Given the description of an element on the screen output the (x, y) to click on. 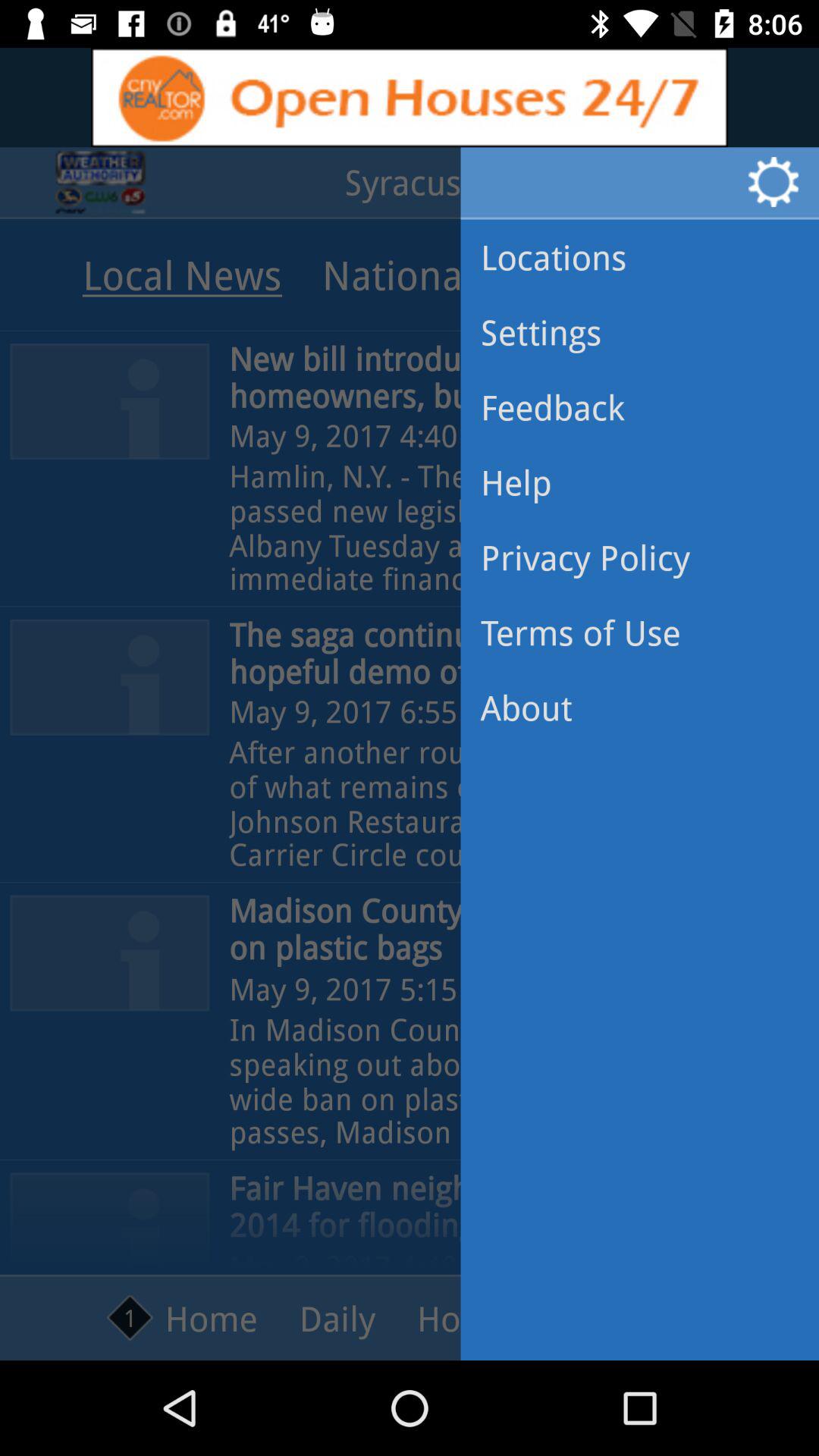
click on home which is beside daily (181, 1318)
